Given the description of an element on the screen output the (x, y) to click on. 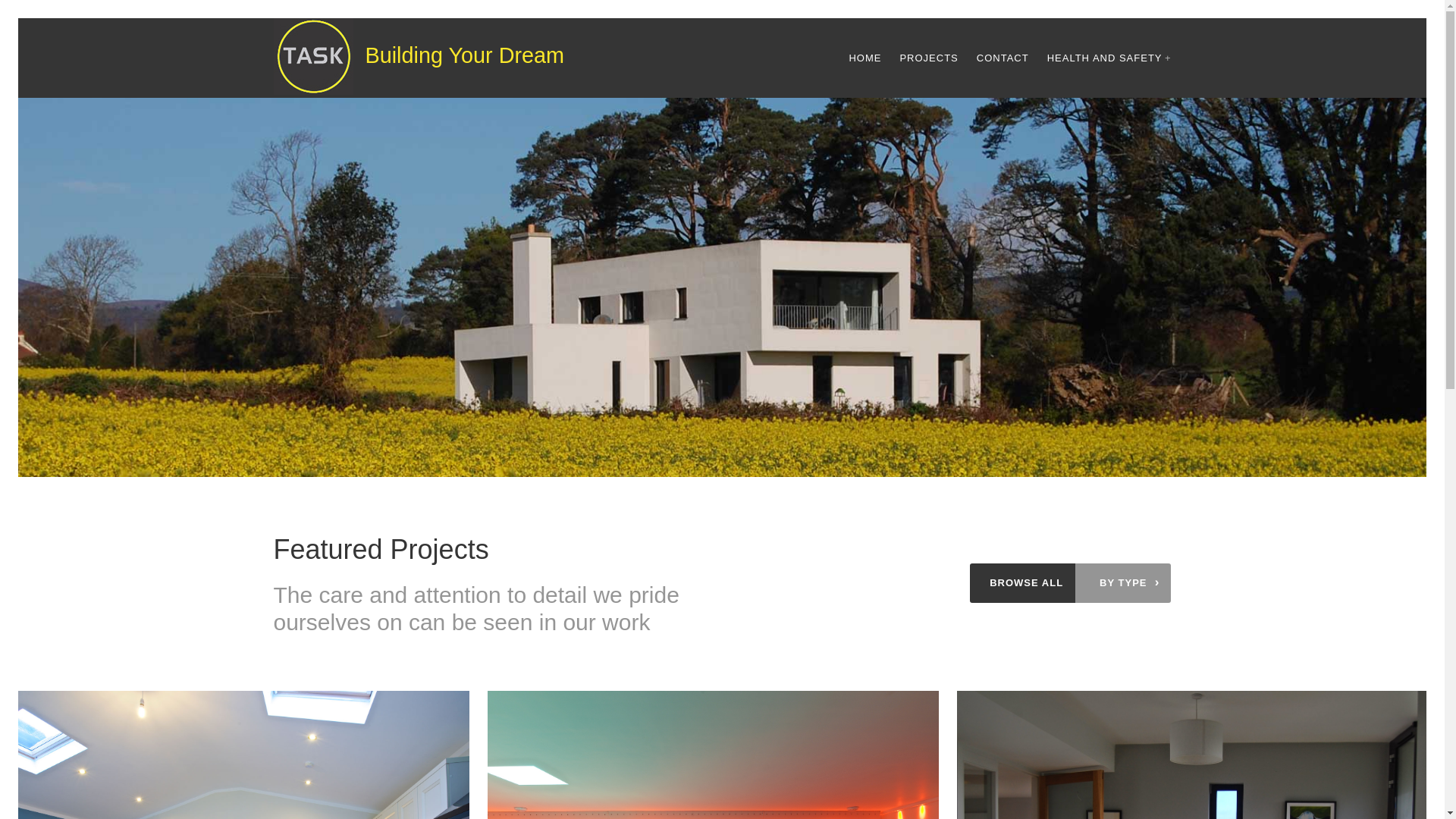
PROJECTS Element type: text (928, 57)
BROWSE ALL Element type: text (1025, 582)
CONTACT Element type: text (1002, 57)
HOME Element type: text (864, 57)
HEALTH AND SAFETY Element type: text (1104, 57)
